Given the description of an element on the screen output the (x, y) to click on. 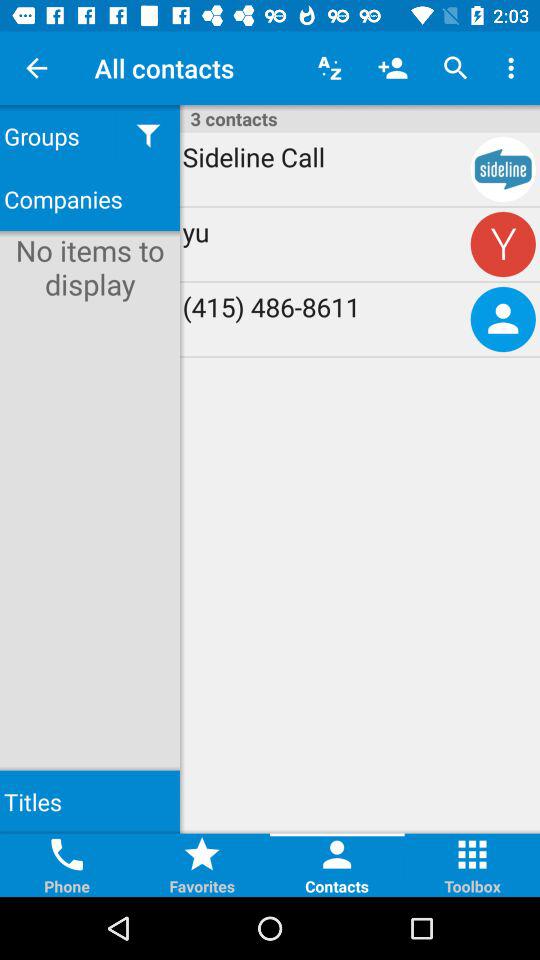
open the item above companies (148, 136)
